Given the description of an element on the screen output the (x, y) to click on. 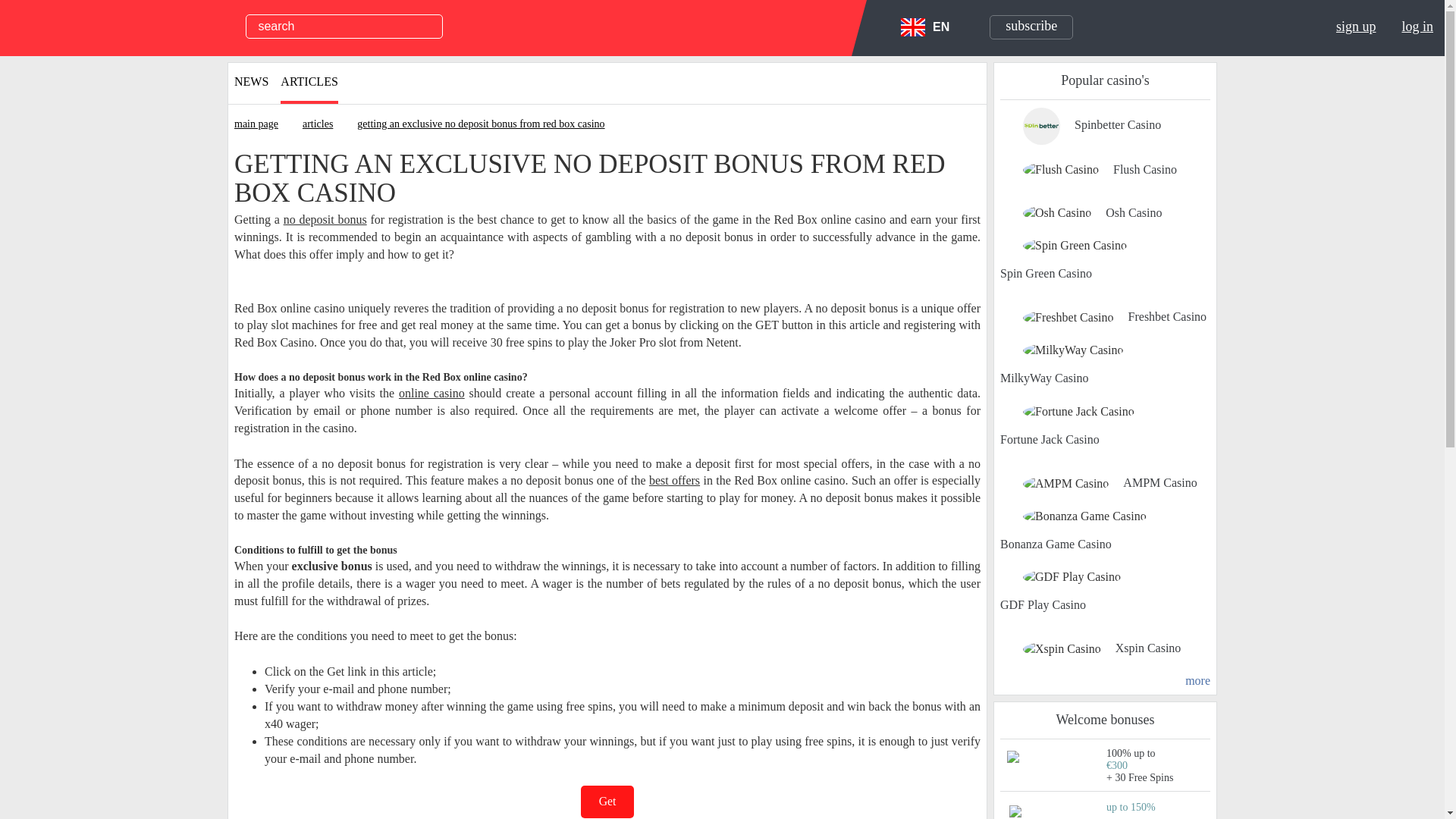
sign up (1355, 26)
EN (924, 27)
subscribe (1031, 27)
Spy-Casino (71, 25)
log in (1416, 26)
